Given the description of an element on the screen output the (x, y) to click on. 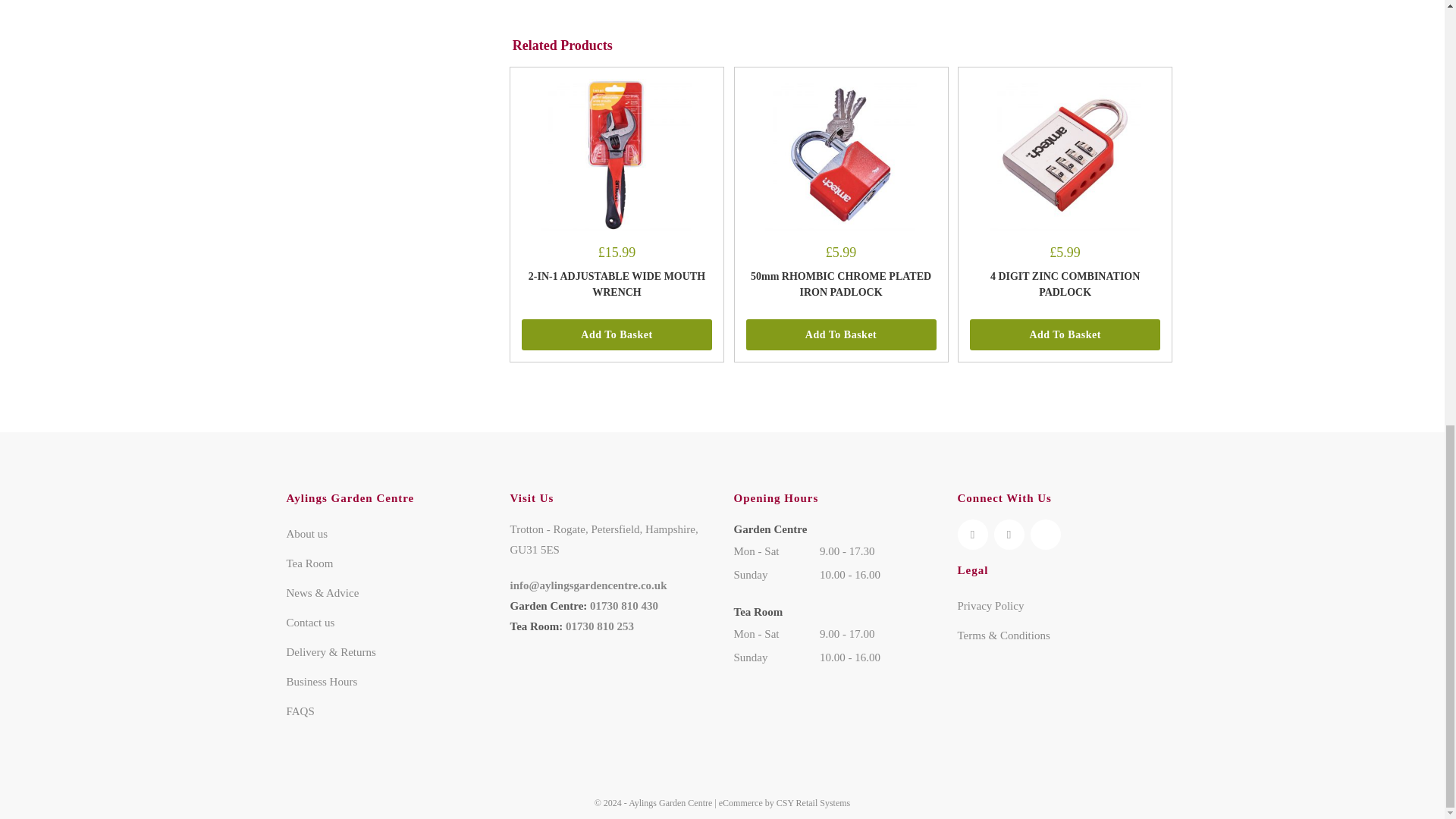
50mm RHOMBIC CHROME PLATED IRON PADLOCK (841, 154)
4 DIGIT ZINC COMBINATION PADLOCK (1065, 154)
2-IN-1 ADJUSTABLE WIDE MOUTH WRENCH (616, 154)
